Given the description of an element on the screen output the (x, y) to click on. 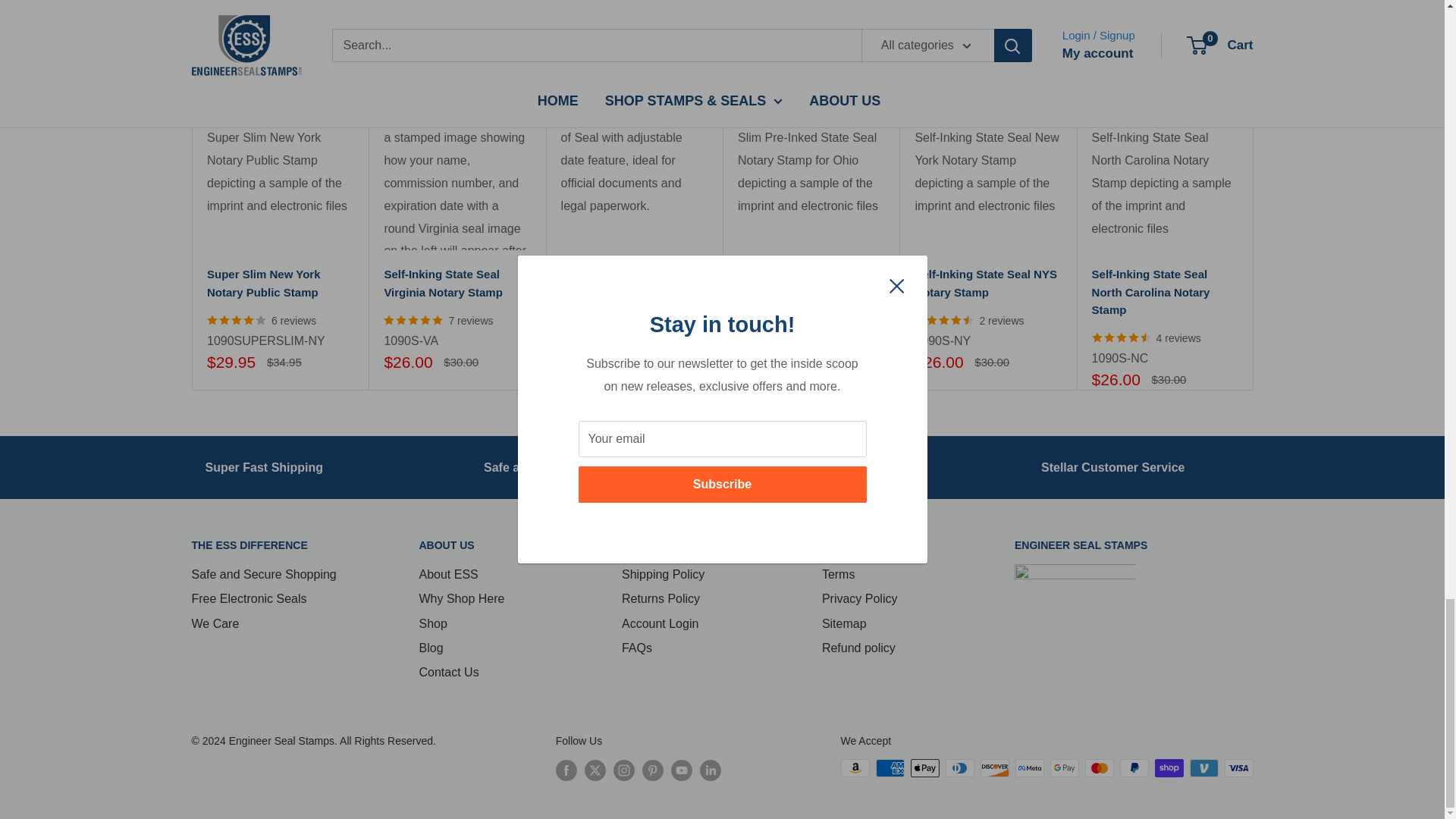
Super-Fast Shipping (264, 467)
Safe and Secure Shopping (560, 467)
Contact Us (1113, 467)
Free Electronic Seals (823, 467)
